Given the description of an element on the screen output the (x, y) to click on. 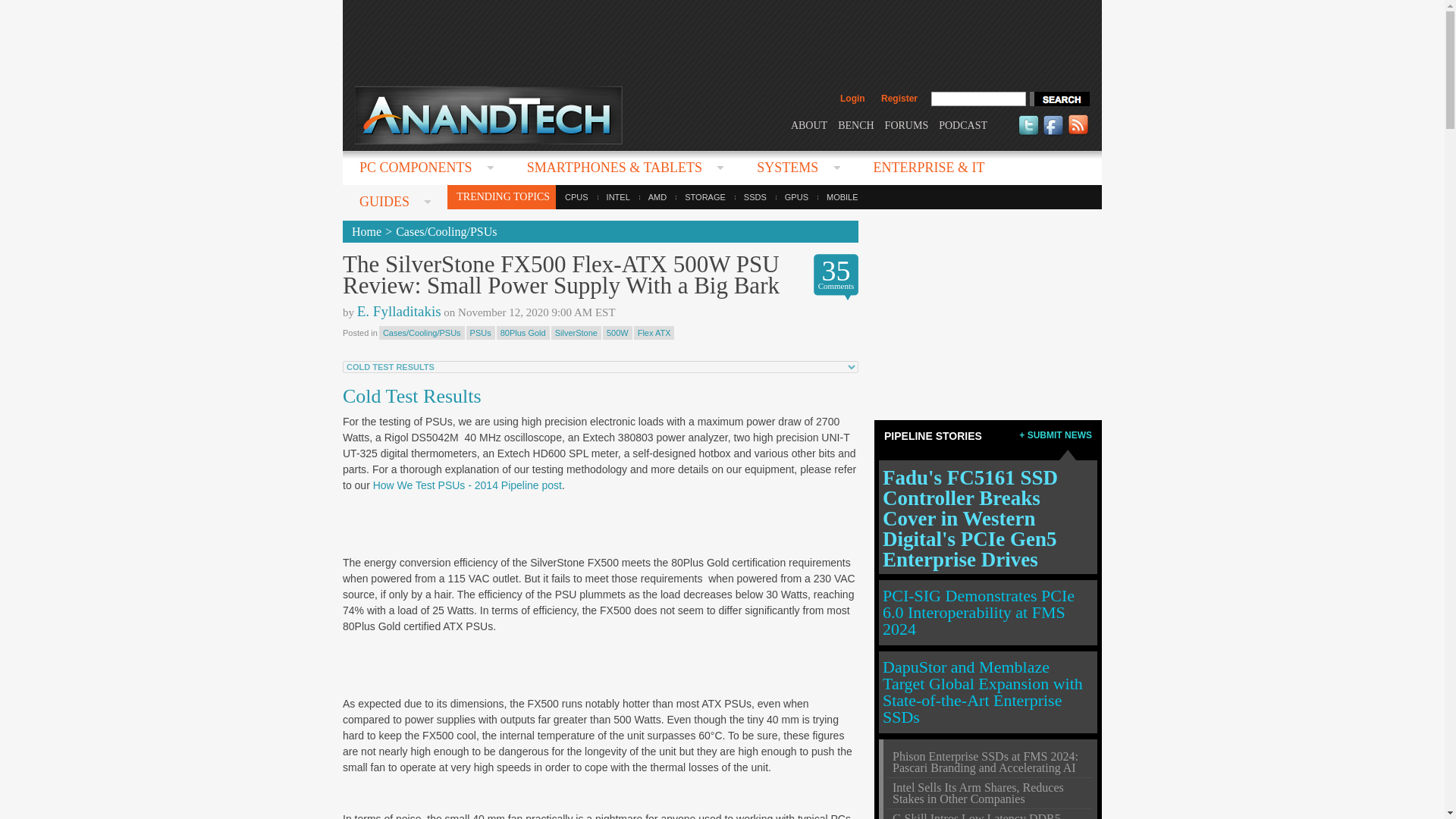
Login (852, 98)
search (1059, 98)
search (1059, 98)
ABOUT (808, 125)
BENCH (855, 125)
PODCAST (963, 125)
search (1059, 98)
FORUMS (906, 125)
Register (898, 98)
